Given the description of an element on the screen output the (x, y) to click on. 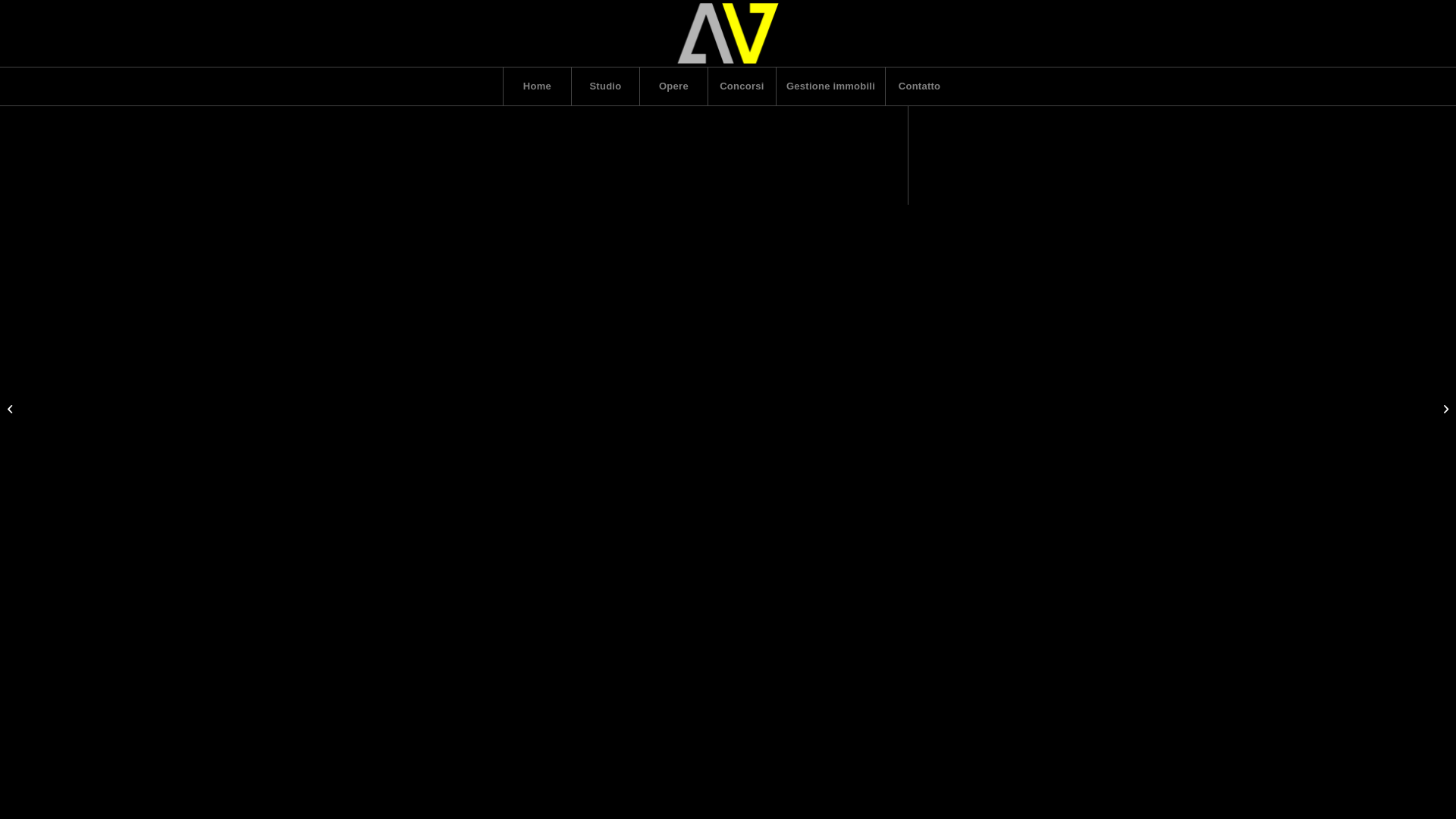
Concorsi Element type: text (741, 86)
Gestione immobili Element type: text (829, 86)
Opere Element type: text (673, 86)
Home Element type: text (536, 86)
Contatto Element type: text (918, 86)
Studio Element type: text (605, 86)
